Given the description of an element on the screen output the (x, y) to click on. 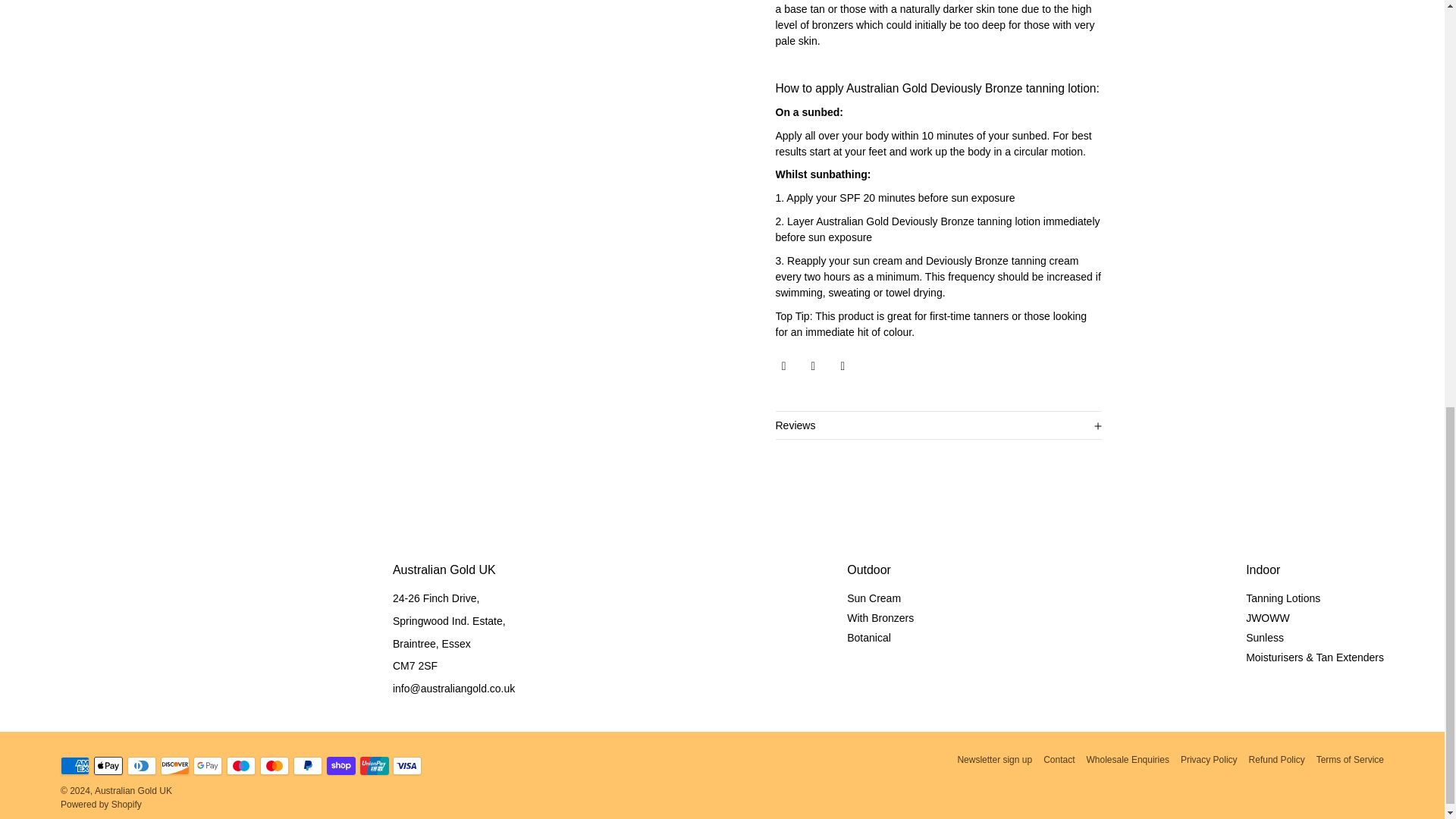
Union Pay (373, 765)
Discover (174, 765)
PayPal (307, 765)
American Express (74, 765)
Visa (407, 765)
Diners Club (141, 765)
Mastercard (274, 765)
Google Pay (207, 765)
Apple Pay (108, 765)
Maestro (241, 765)
